Given the description of an element on the screen output the (x, y) to click on. 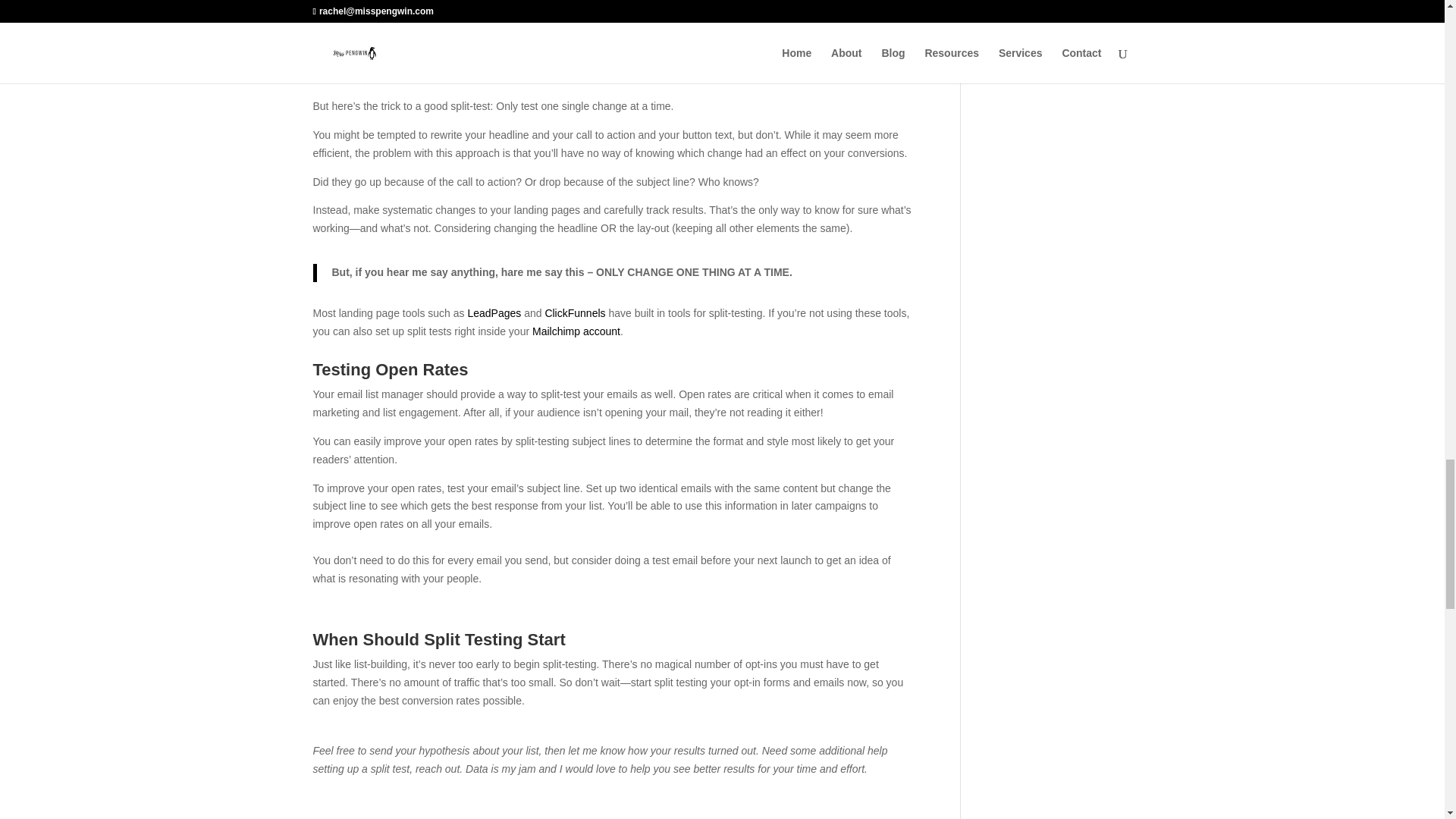
ClickFunnels (574, 313)
Mailchimp account (576, 331)
LeadPages (494, 313)
